Given the description of an element on the screen output the (x, y) to click on. 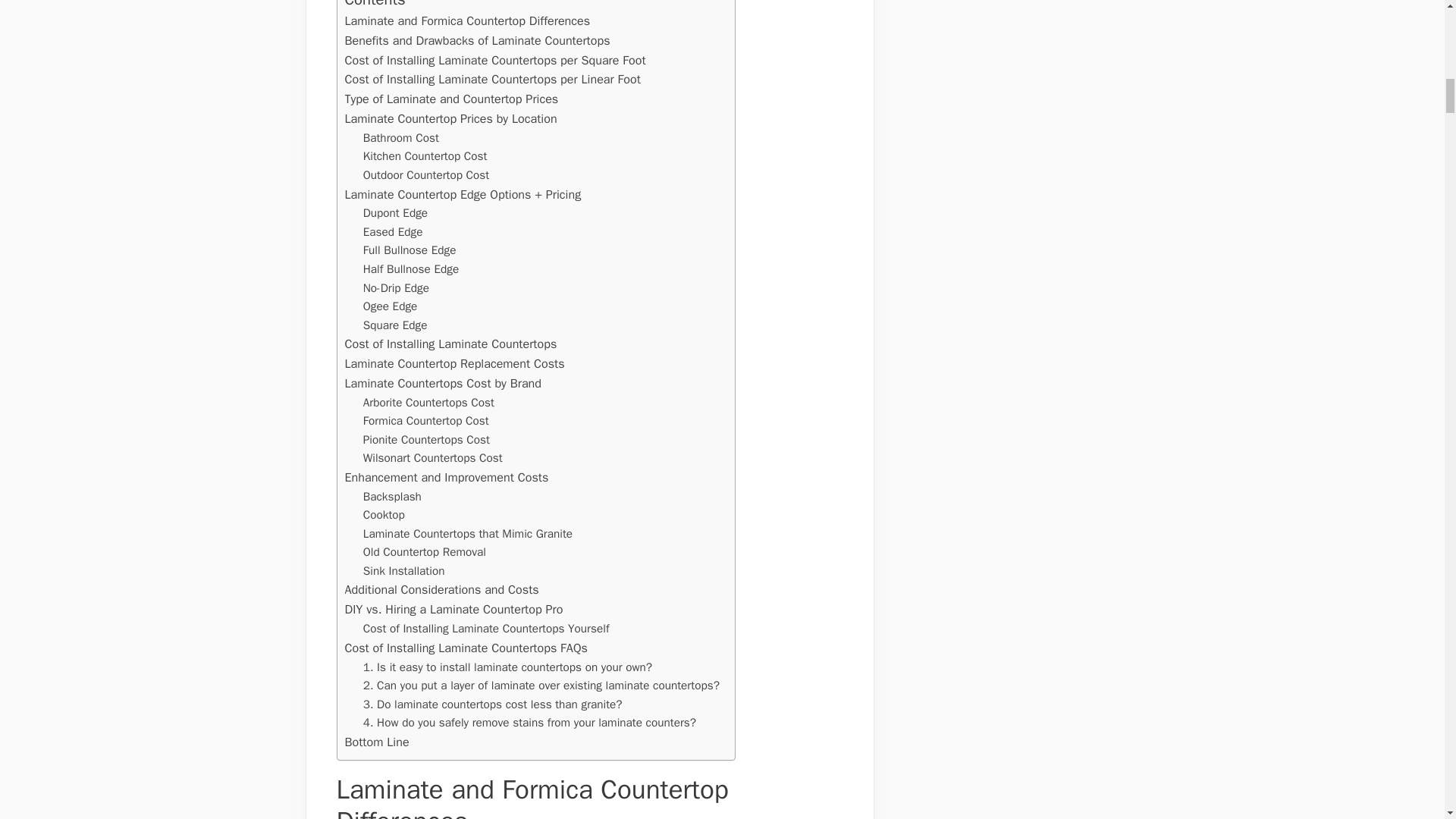
Kitchen Countertop Cost (424, 156)
No-Drip Edge (395, 288)
Laminate Countertop Prices by Location (449, 118)
Full Bullnose Edge (409, 250)
Outdoor Countertop Cost (425, 175)
Laminate and Formica Countertop Differences (466, 21)
Dupont Edge (395, 212)
Half Bullnose Edge (410, 269)
Bathroom Cost (400, 138)
Benefits and Drawbacks of Laminate Countertops (476, 40)
Eased Edge (392, 231)
Cost of Installing Laminate Countertops per Square Foot (494, 59)
Cost of Installing Laminate Countertops per Linear Foot (491, 79)
Type of Laminate and Countertop Prices (450, 98)
